Given the description of an element on the screen output the (x, y) to click on. 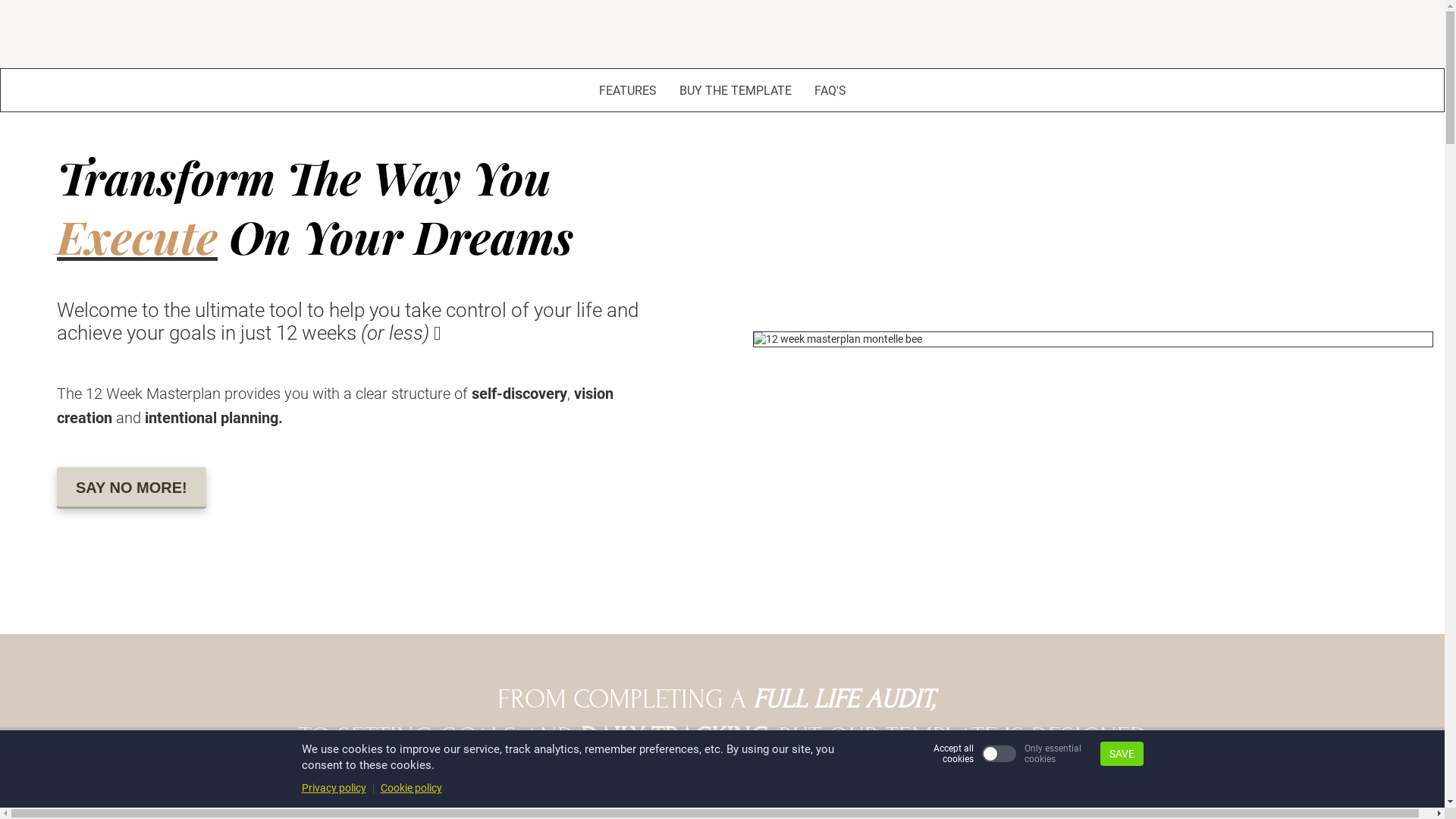
SAY NO MORE! Element type: text (131, 487)
FAQ'S Element type: text (830, 91)
Privacy policy Element type: text (333, 787)
FEATURES Element type: text (627, 91)
BUY THE TEMPLATE Element type: text (735, 91)
SAVE Element type: text (1120, 753)
Cookie policy Element type: text (411, 787)
